Given the description of an element on the screen output the (x, y) to click on. 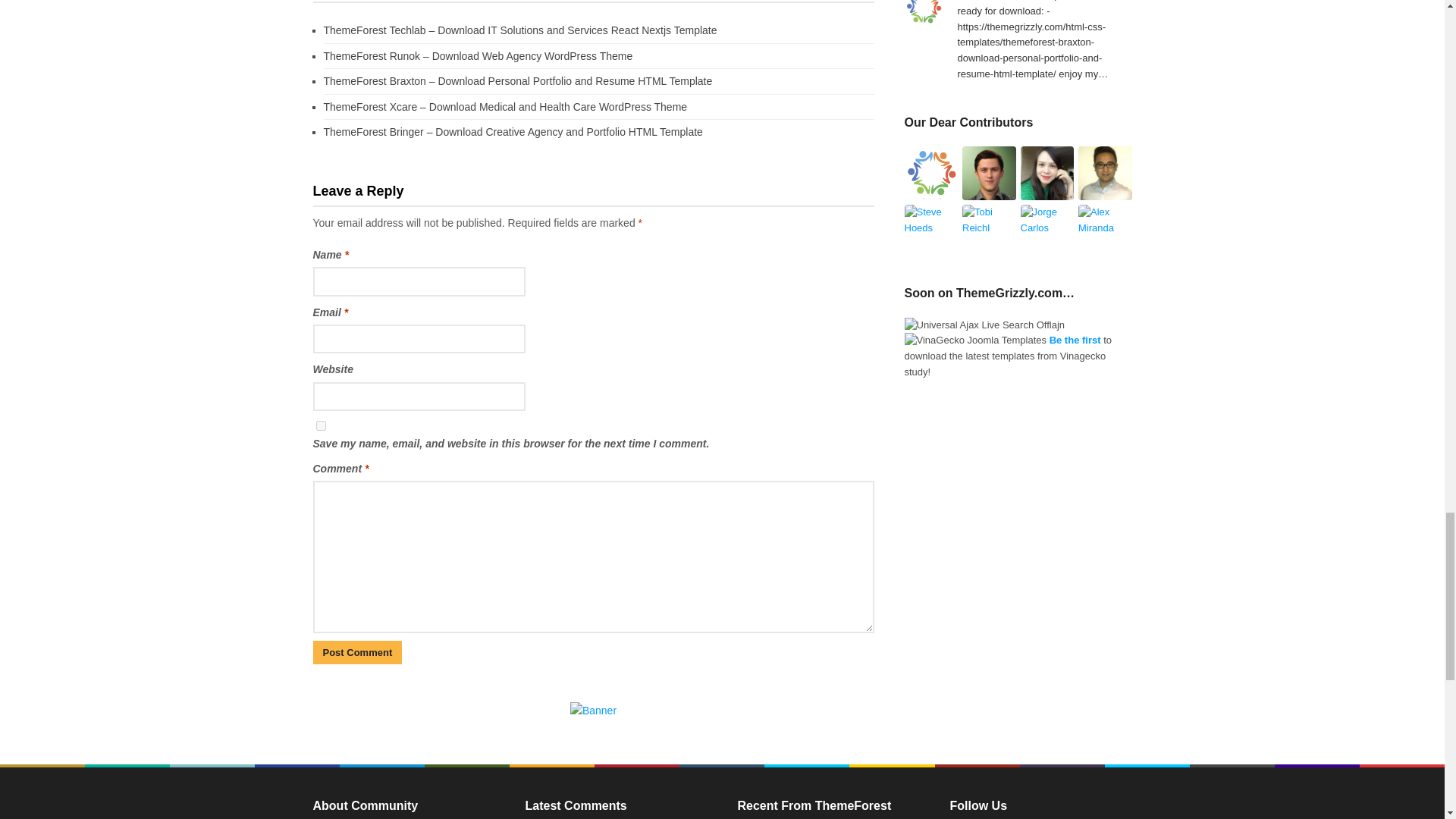
Post Comment (357, 652)
yes (319, 425)
